Given the description of an element on the screen output the (x, y) to click on. 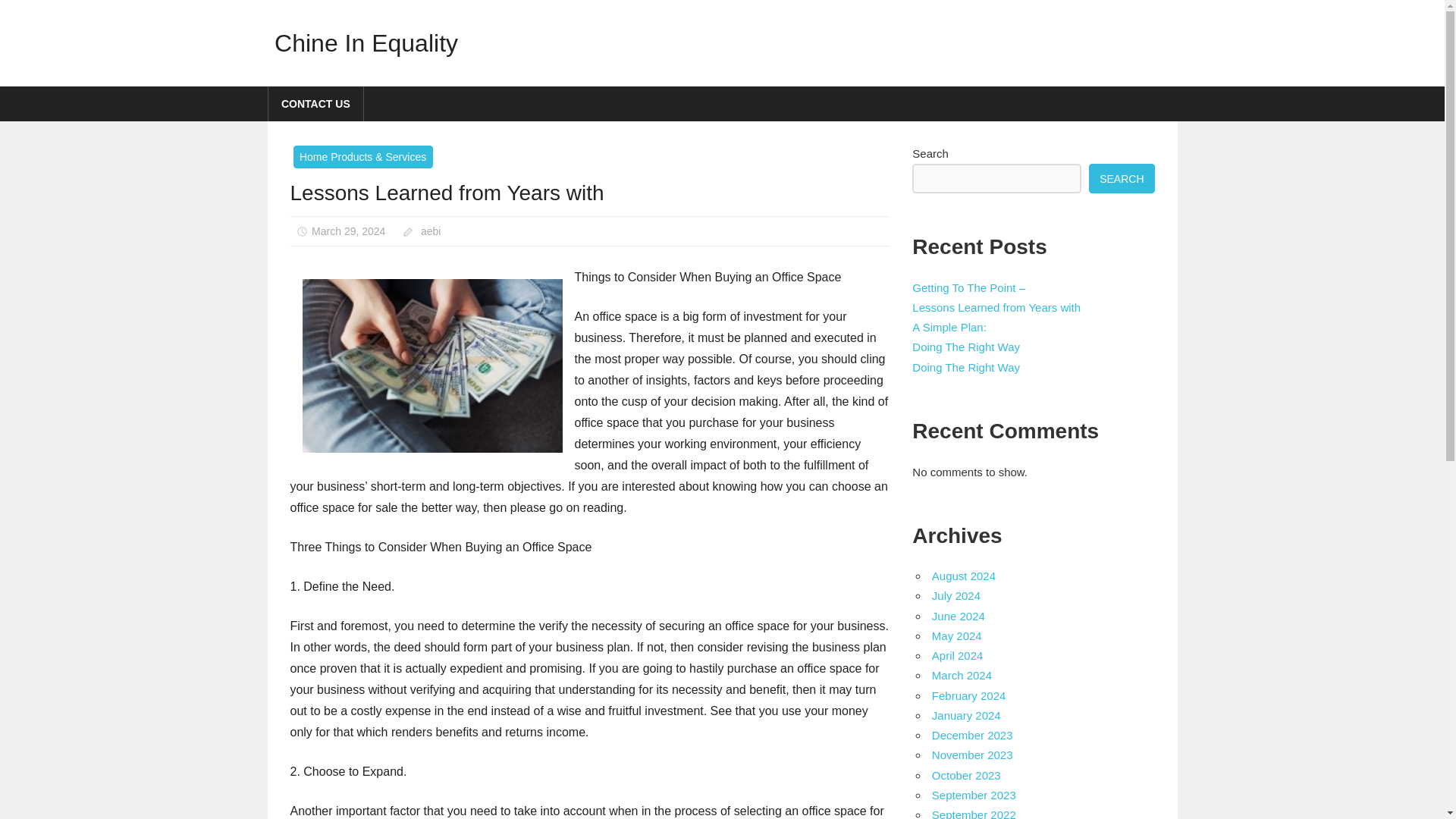
March 2024 (961, 675)
September 2022 (973, 813)
June 2024 (958, 615)
October 2023 (966, 775)
Chine In Equality (366, 42)
February 2024 (968, 695)
August 2024 (963, 575)
SEARCH (1121, 178)
September 2023 (973, 794)
Doing The Right Way (966, 346)
